Given the description of an element on the screen output the (x, y) to click on. 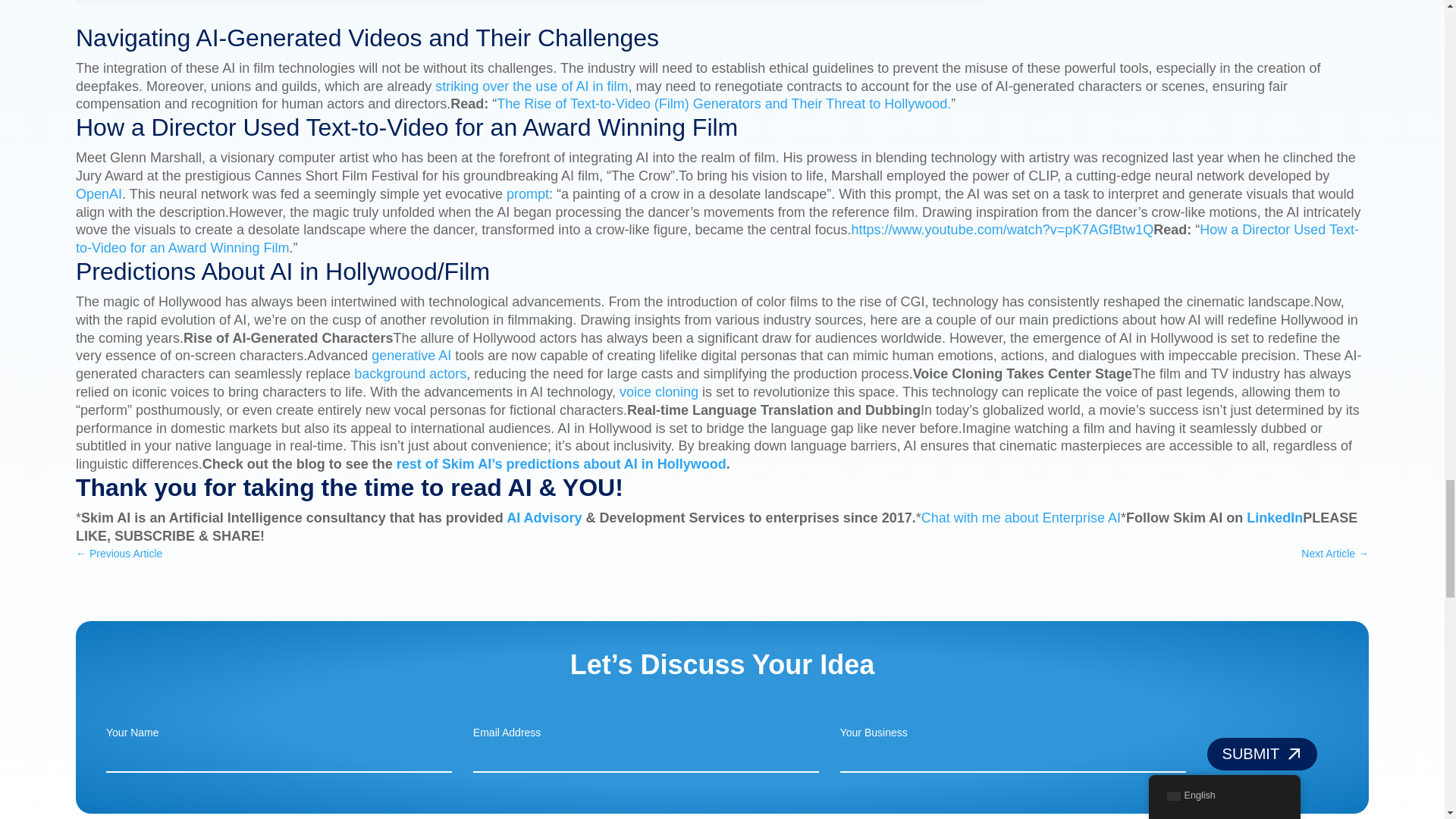
Submit (1262, 753)
